Given the description of an element on the screen output the (x, y) to click on. 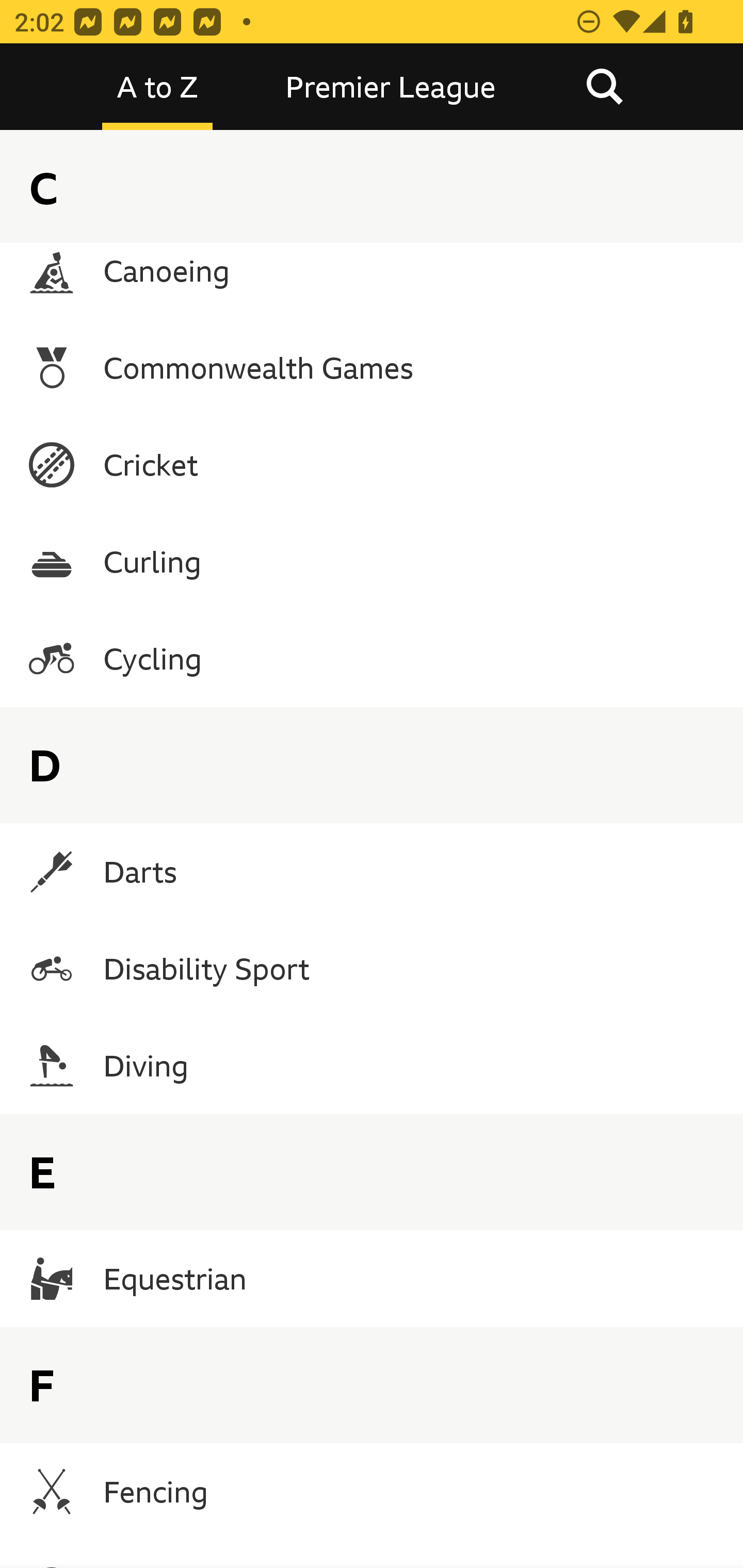
Premier League (390, 86)
Search (604, 86)
Canoeing (371, 270)
Commonwealth Games (371, 367)
Cricket (371, 463)
Curling (371, 560)
Cycling (371, 658)
Darts (371, 871)
Disability Sport (371, 968)
Diving (371, 1065)
Equestrian (371, 1278)
Fencing (371, 1490)
